Given the description of an element on the screen output the (x, y) to click on. 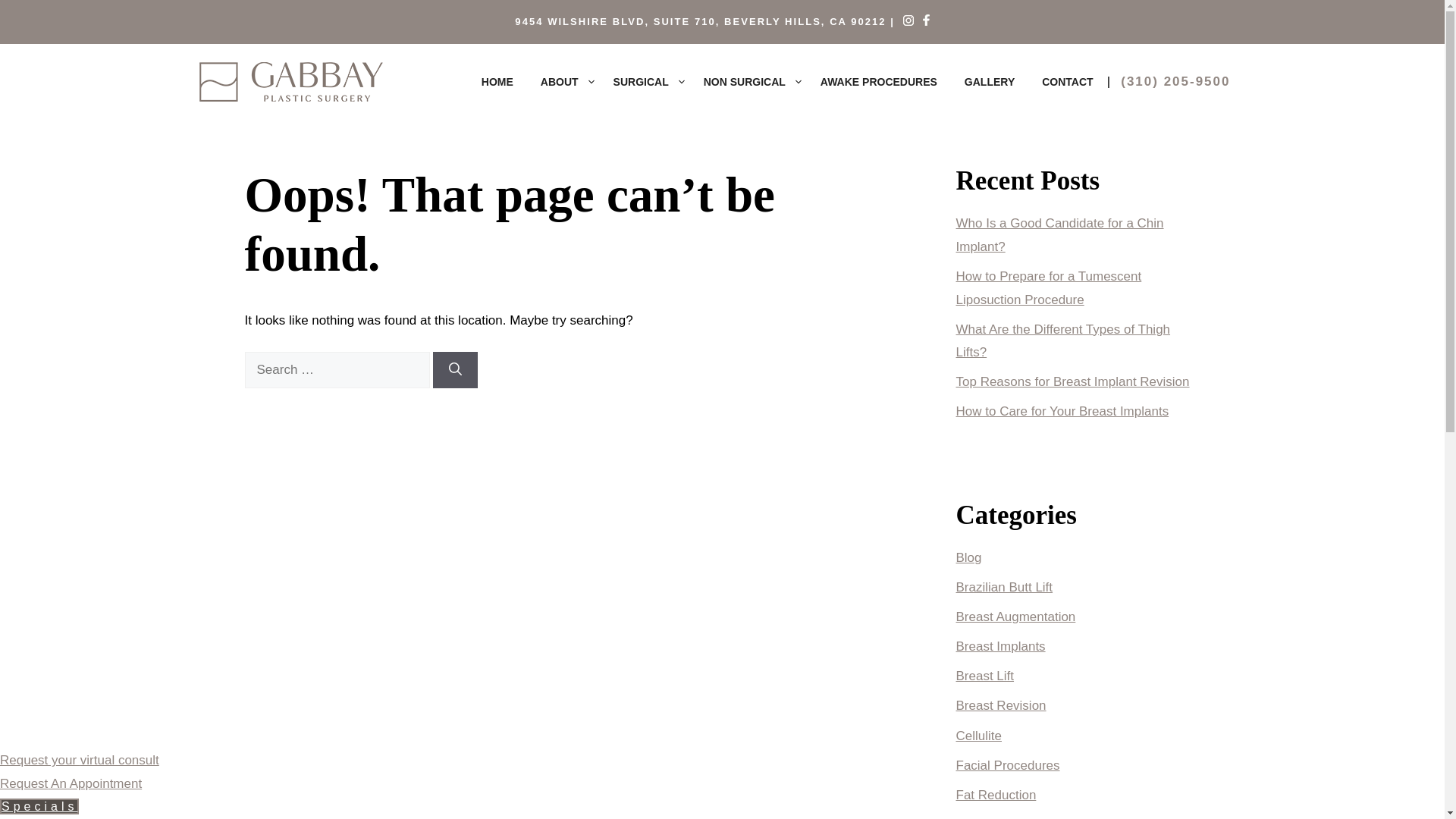
SURGICAL (644, 81)
Gabbay Plastic Surgery (289, 81)
Gabbay Plastic Surgery (289, 81)
Instagram icon (908, 19)
ABOUT (563, 81)
Search for: (336, 370)
